Given the description of an element on the screen output the (x, y) to click on. 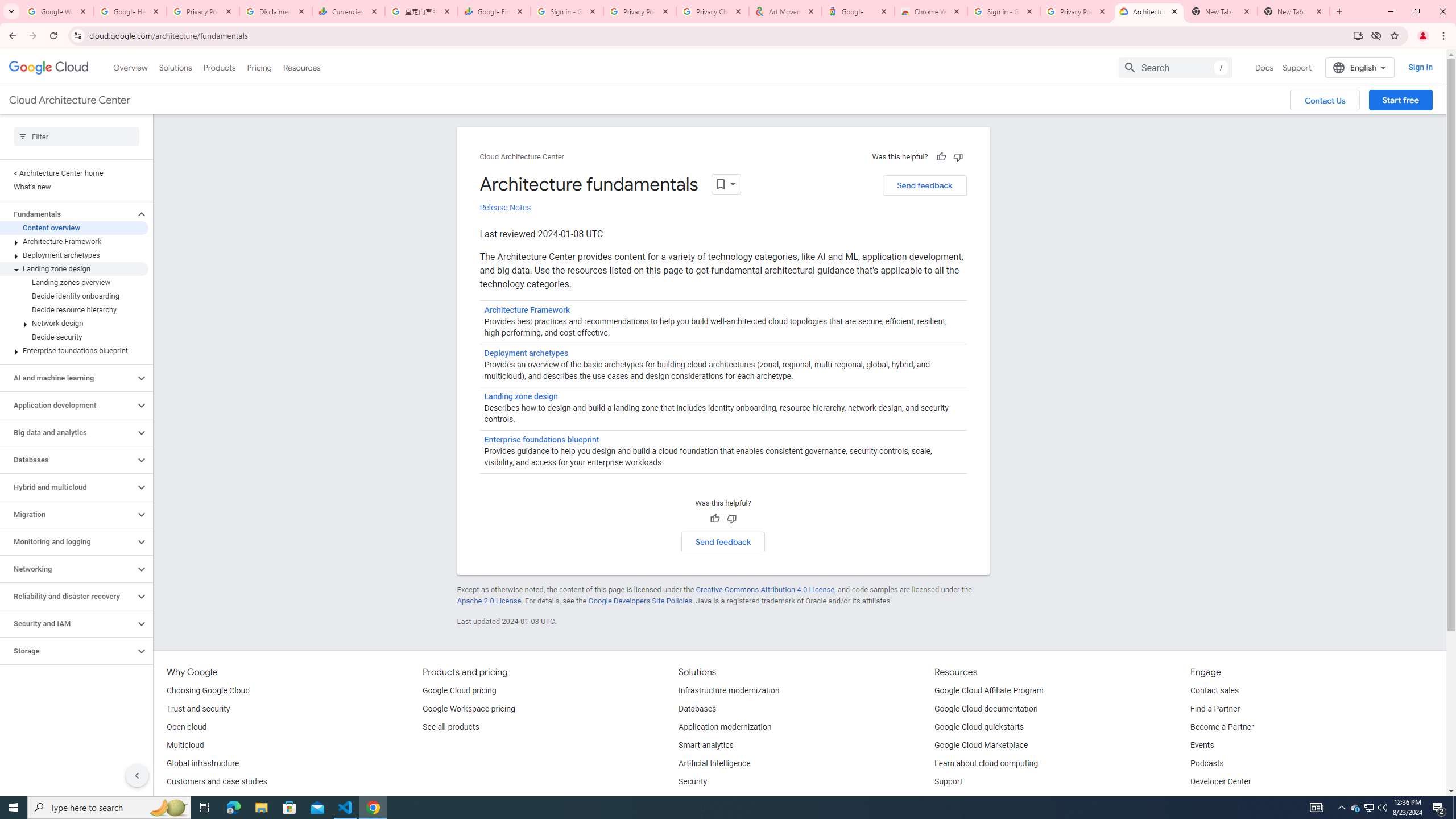
Helpful (714, 518)
Events (1202, 745)
Application development (67, 404)
Sign in - Google Accounts (1003, 11)
Podcasts (1207, 764)
Support (948, 782)
Google Cloud (48, 67)
Install Google Cloud (1358, 35)
Migration (67, 514)
Artificial Intelligence (714, 764)
Deployment archetypes (74, 255)
Trust and security (197, 709)
Enterprise foundations blueprint (541, 439)
New Tab (1293, 11)
